Given the description of an element on the screen output the (x, y) to click on. 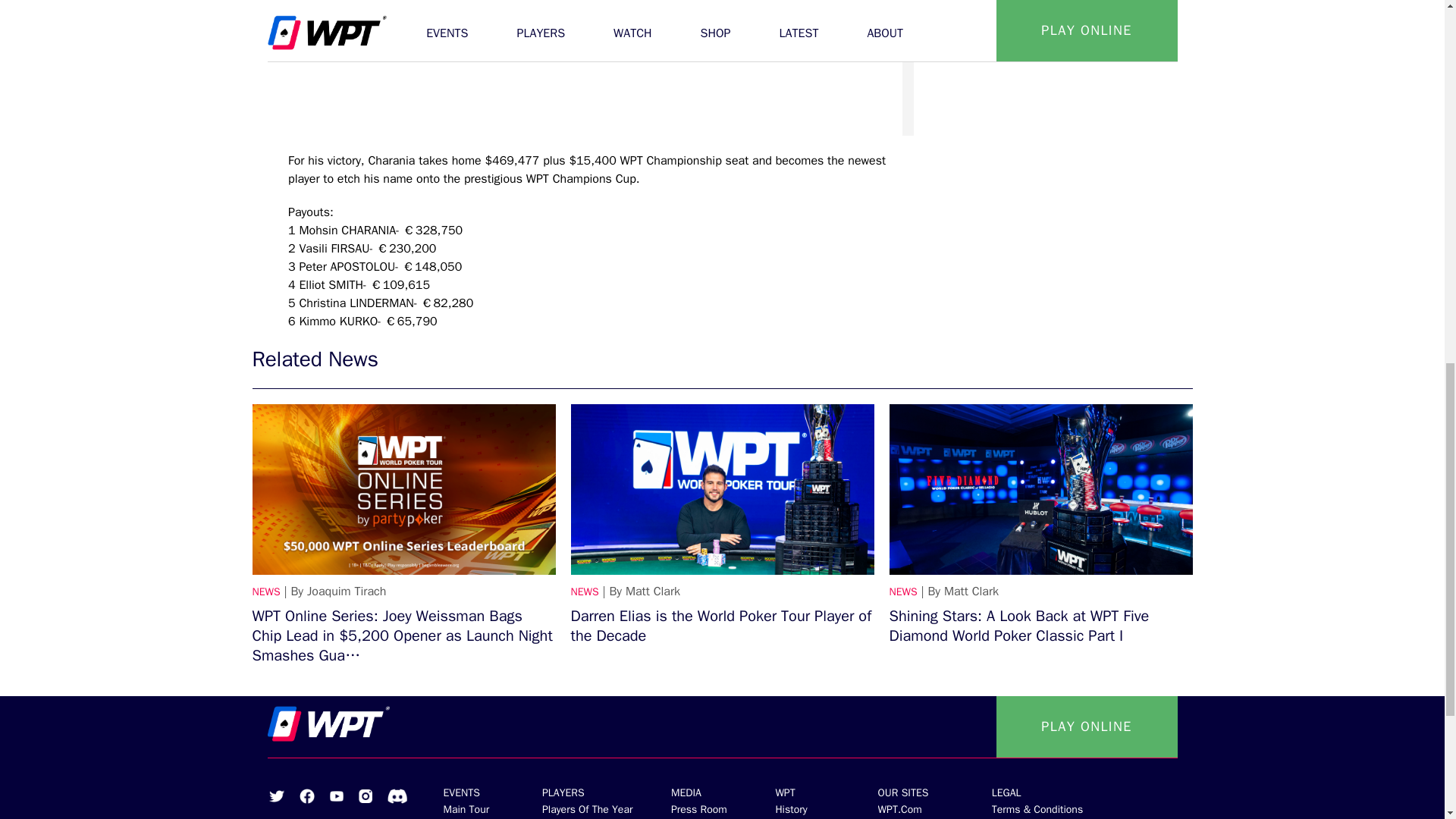
Instagram (364, 796)
Darren Elias is the World Poker Tour Player of the Decade (721, 489)
Youtube (335, 796)
Twitter (275, 796)
Discord (396, 795)
3rd party ad content (1042, 67)
Facebook (306, 795)
